Given the description of an element on the screen output the (x, y) to click on. 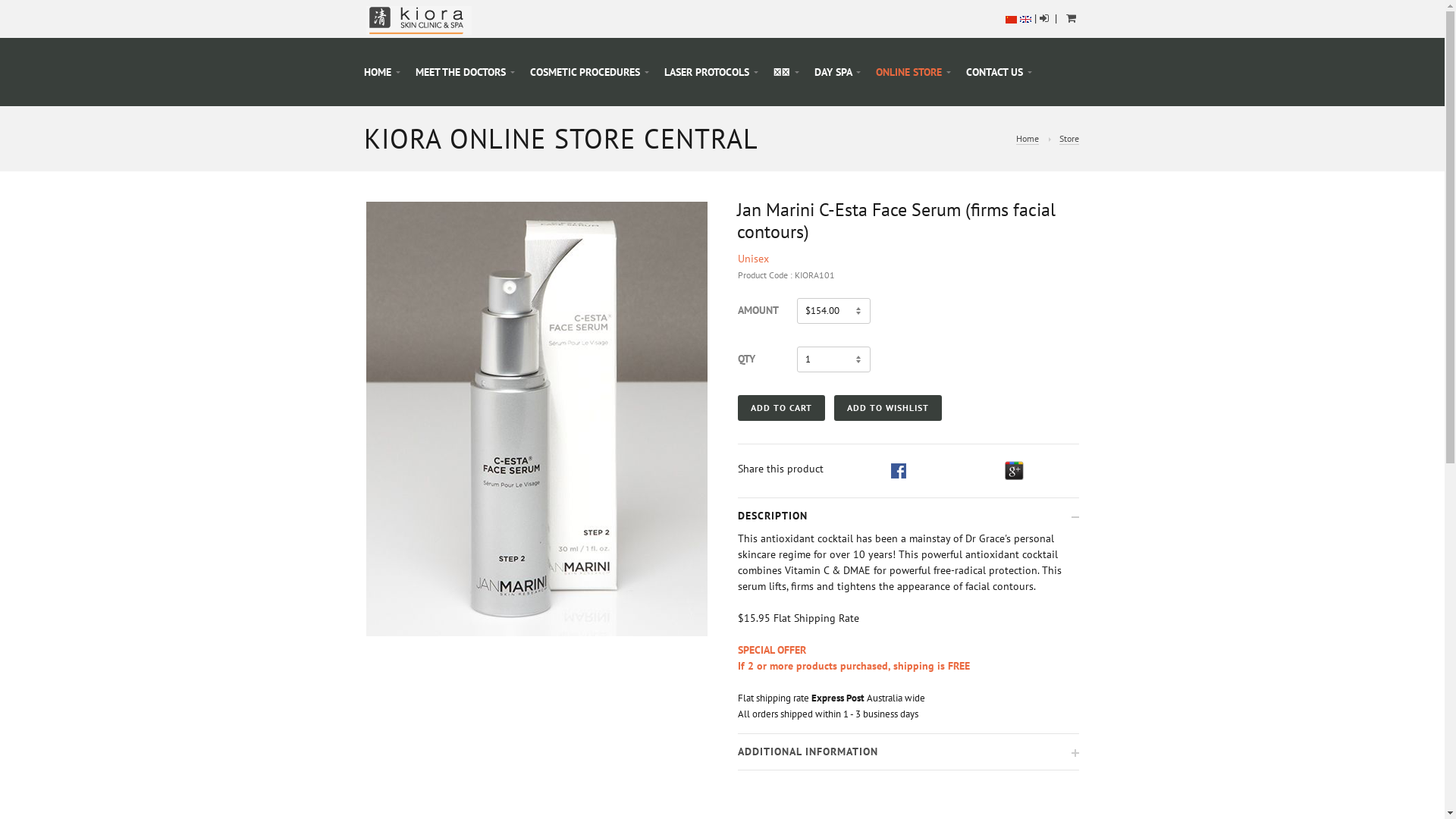
DAY SPA Element type: text (837, 71)
  Element type: text (1044, 18)
1 Element type: text (834, 359)
$154.00 Element type: text (834, 310)
  Element type: text (1068, 18)
Store Element type: text (1068, 138)
DESCRIPTION Element type: text (907, 516)
HOME Element type: text (381, 71)
LASER PROTOCOLS Element type: text (710, 71)
Sign In Element type: hover (1044, 18)
Chinese Element type: hover (1010, 18)
ADDITIONAL INFORMATION Element type: text (907, 752)
CONTACT US Element type: text (998, 71)
Kiora Home Element type: hover (417, 18)
MEET THE DOCTORS Element type: text (464, 71)
  Element type: text (1072, 18)
ADD TO CART Element type: text (780, 407)
COSMETIC PROCEDURES Element type: text (588, 71)
Home Element type: text (1027, 138)
English Element type: hover (1024, 18)
ADD TO WISHLIST Element type: text (887, 407)
Cart Empty Element type: hover (1072, 18)
ONLINE STORE Element type: text (912, 71)
